Given the description of an element on the screen output the (x, y) to click on. 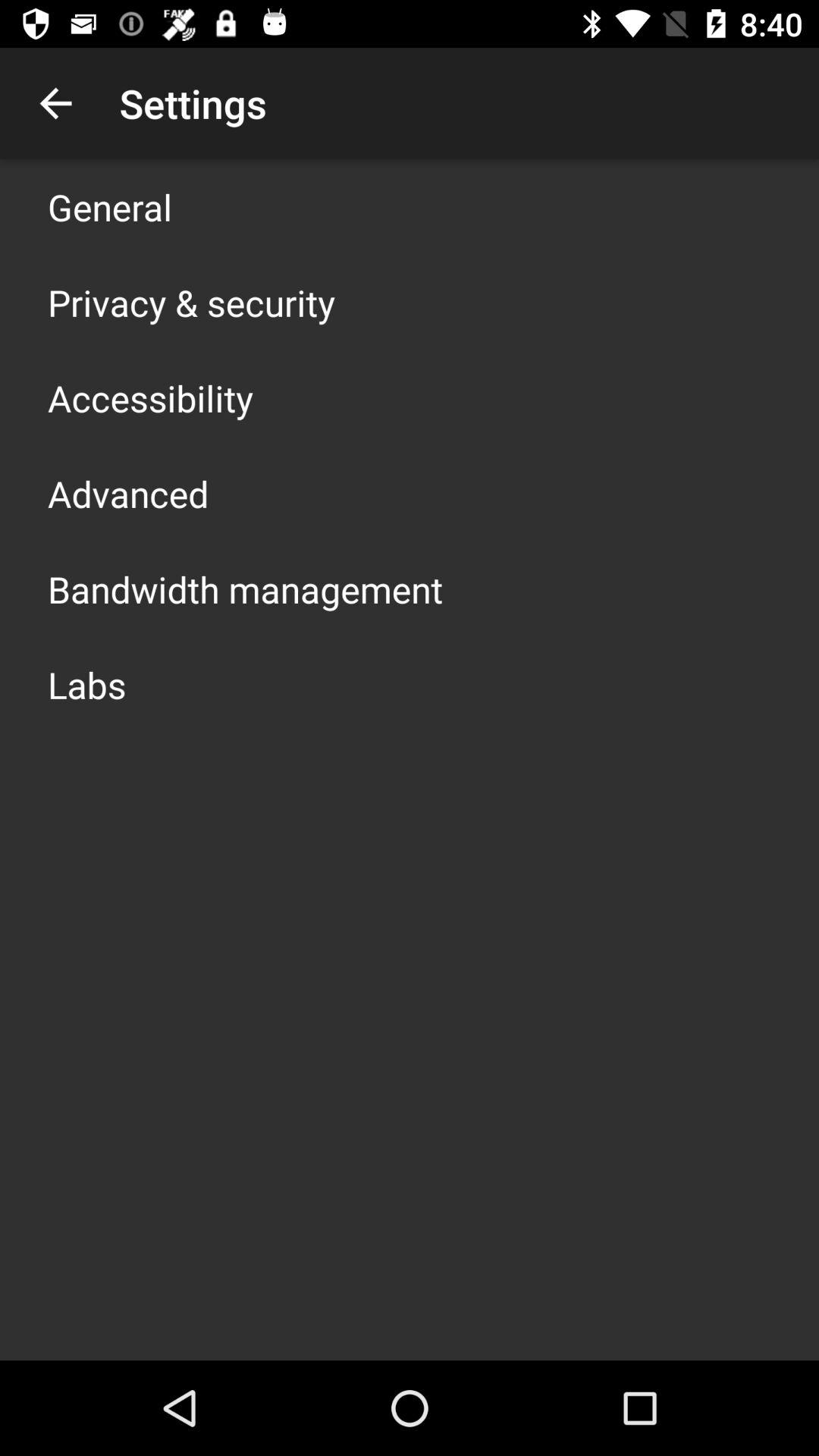
jump until the bandwidth management app (245, 588)
